Given the description of an element on the screen output the (x, y) to click on. 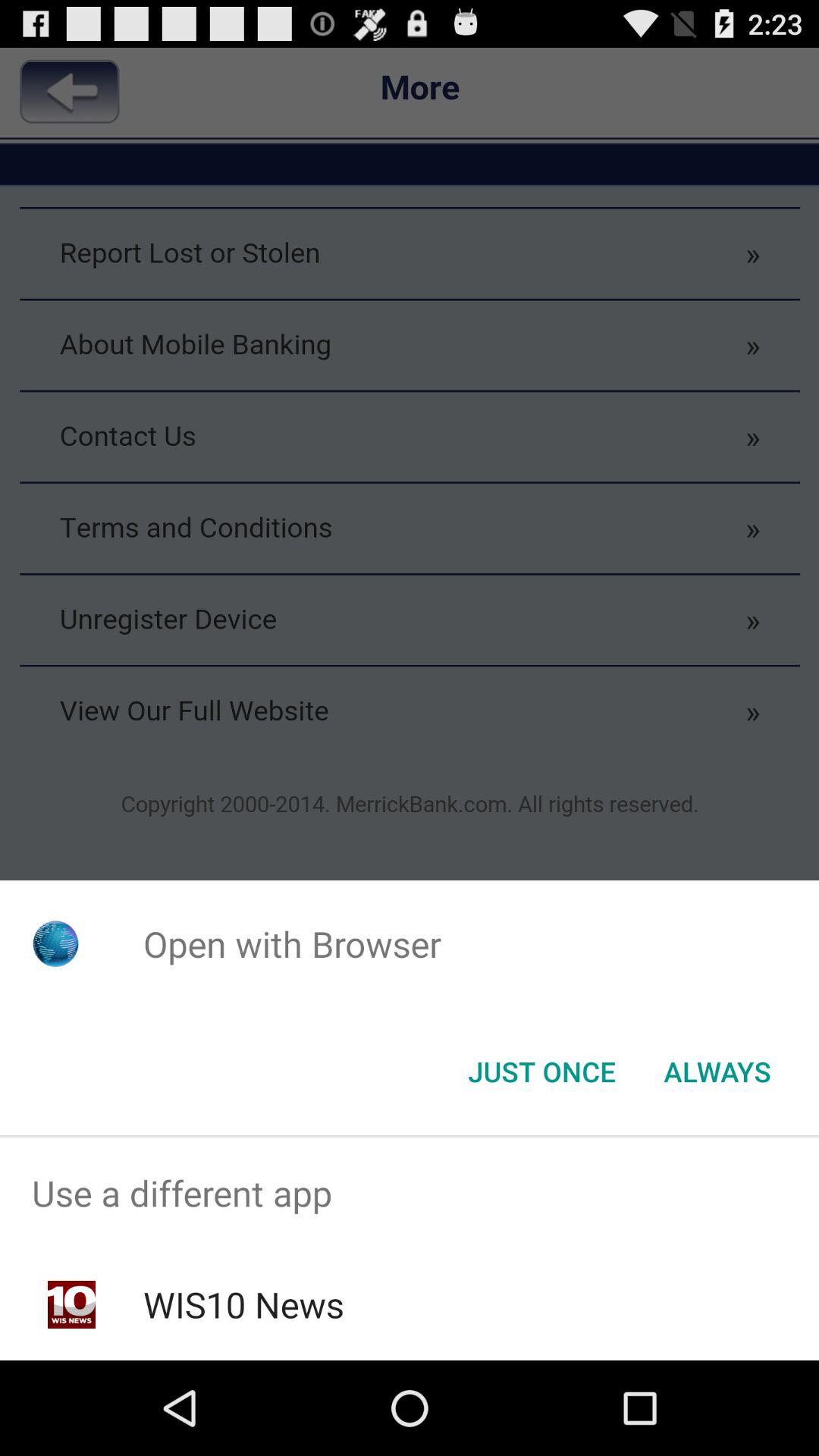
launch the item below the open with browser app (717, 1071)
